Given the description of an element on the screen output the (x, y) to click on. 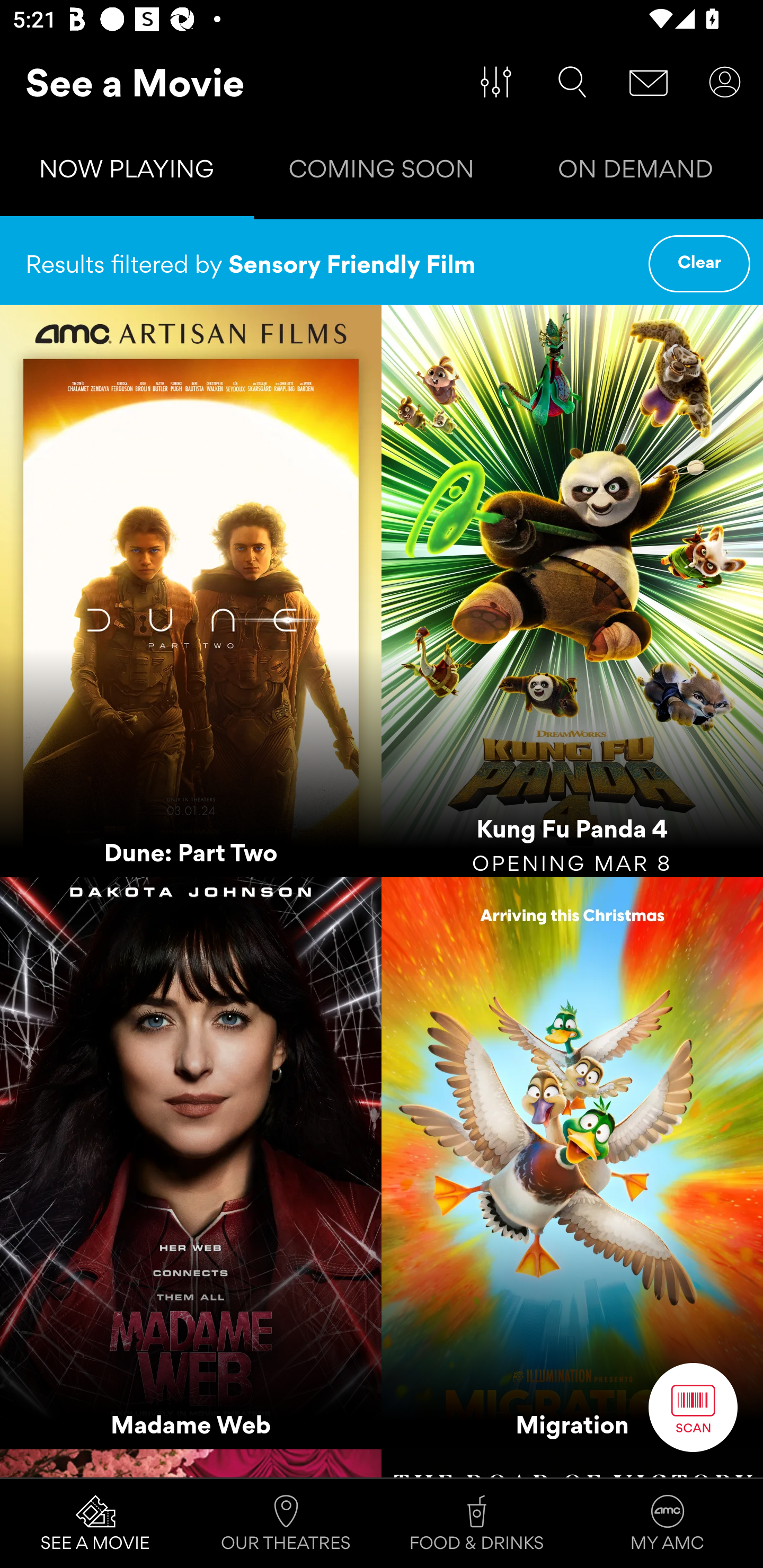
Filter Movies (495, 82)
Search (572, 82)
Message Center (648, 82)
User Account (724, 82)
NOW PLAYING
Tab 1 of 3 (127, 173)
COMING SOON
Tab 2 of 3 (381, 173)
ON DEMAND
Tab 3 of 3 (635, 173)
Clear (699, 263)
Dune: Part Two (190, 590)
Kung Fu Panda 4
OPENING MAR 8 (572, 590)
Madame Web (190, 1162)
Migration (572, 1162)
Scan Button (692, 1406)
SEE A MOVIE
Tab 1 of 4 (95, 1523)
OUR THEATRES
Tab 2 of 4 (285, 1523)
FOOD & DRINKS
Tab 3 of 4 (476, 1523)
MY AMC
Tab 4 of 4 (667, 1523)
